Given the description of an element on the screen output the (x, y) to click on. 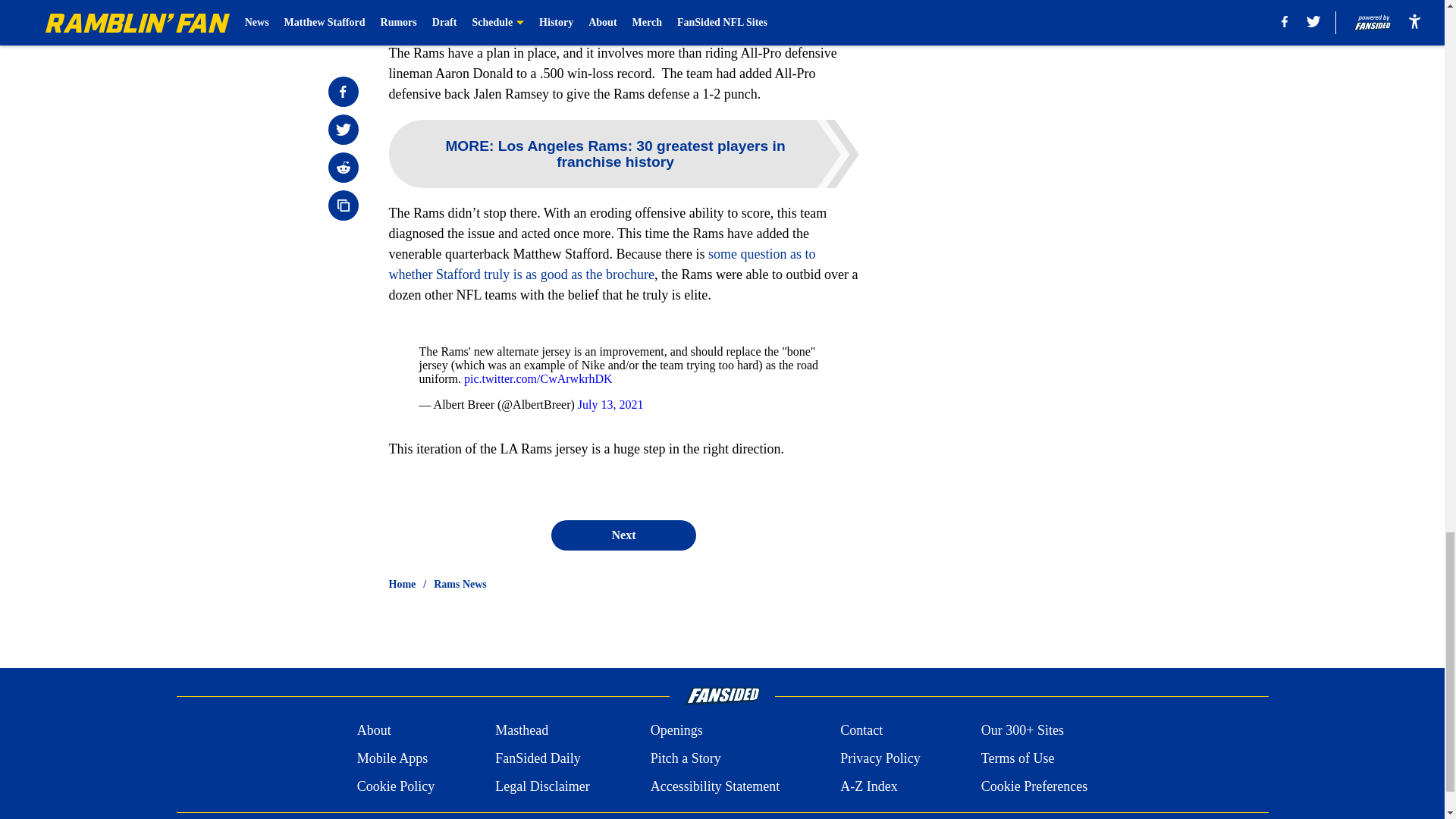
FanSided Daily (537, 758)
Next (622, 535)
Contact (861, 730)
Home (401, 584)
Openings (676, 730)
July 13, 2021 (610, 404)
Masthead (521, 730)
About (373, 730)
Mobile Apps (392, 758)
Rams News (459, 584)
